Given the description of an element on the screen output the (x, y) to click on. 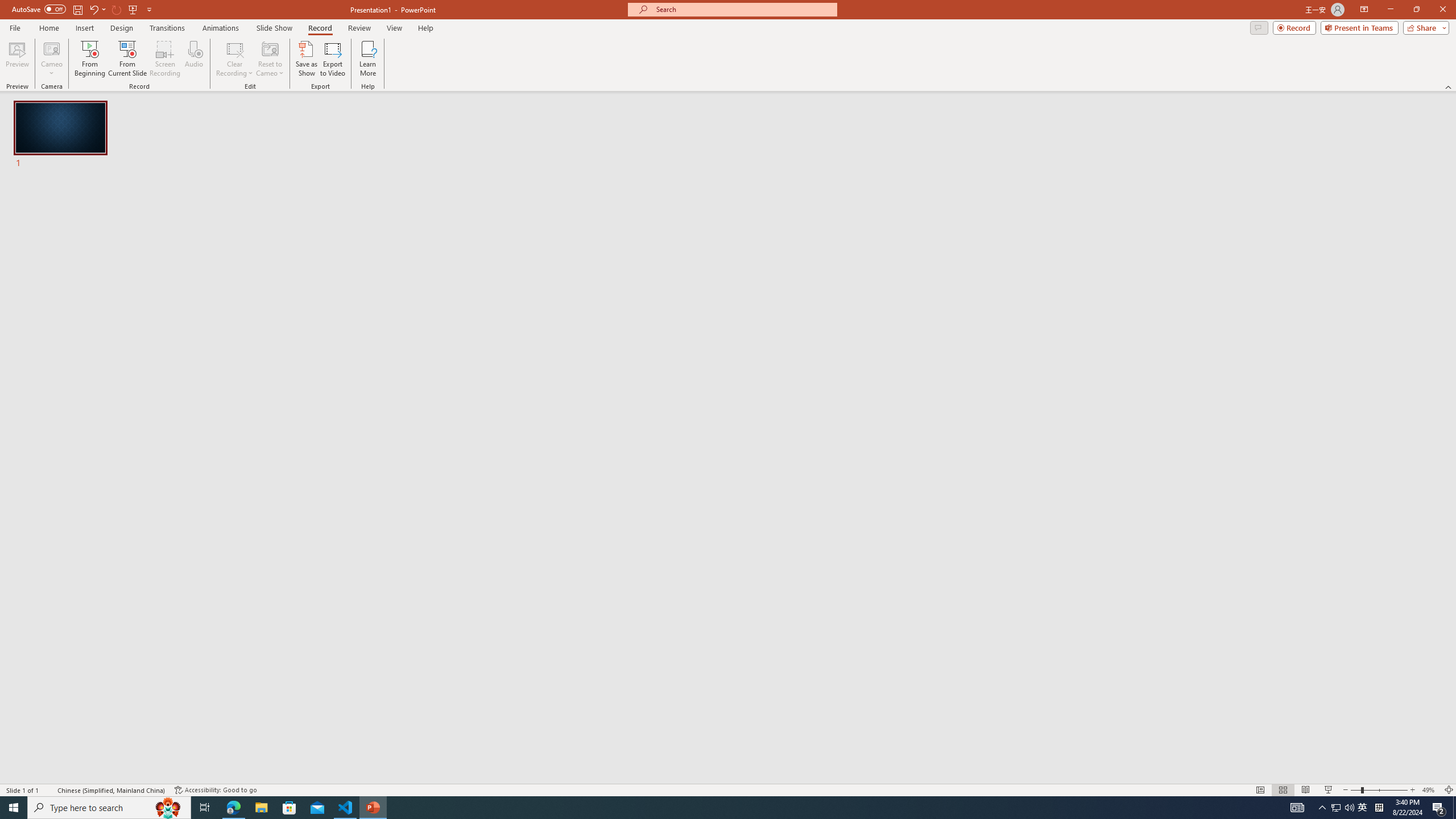
Zoom 49% (1430, 790)
